Given the description of an element on the screen output the (x, y) to click on. 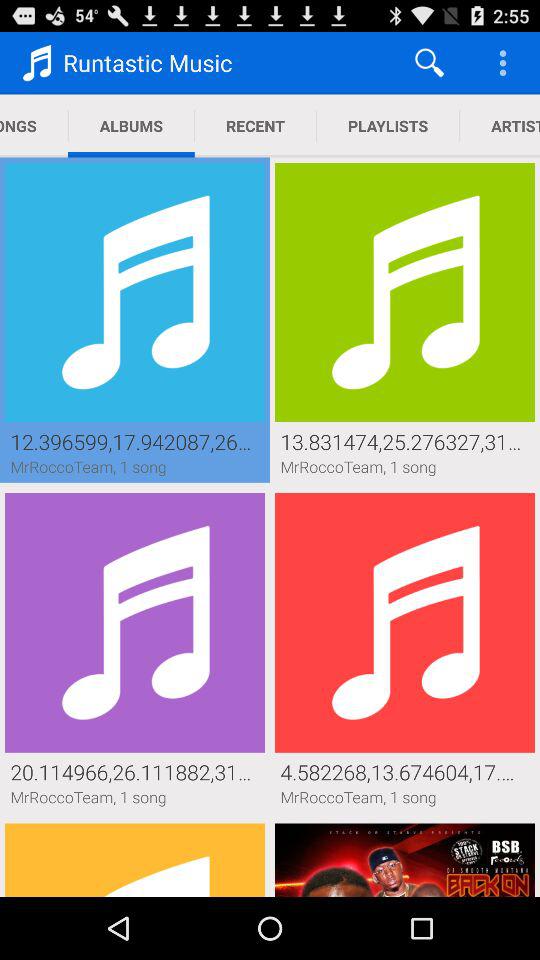
select icon to the right of playlists (499, 125)
